Given the description of an element on the screen output the (x, y) to click on. 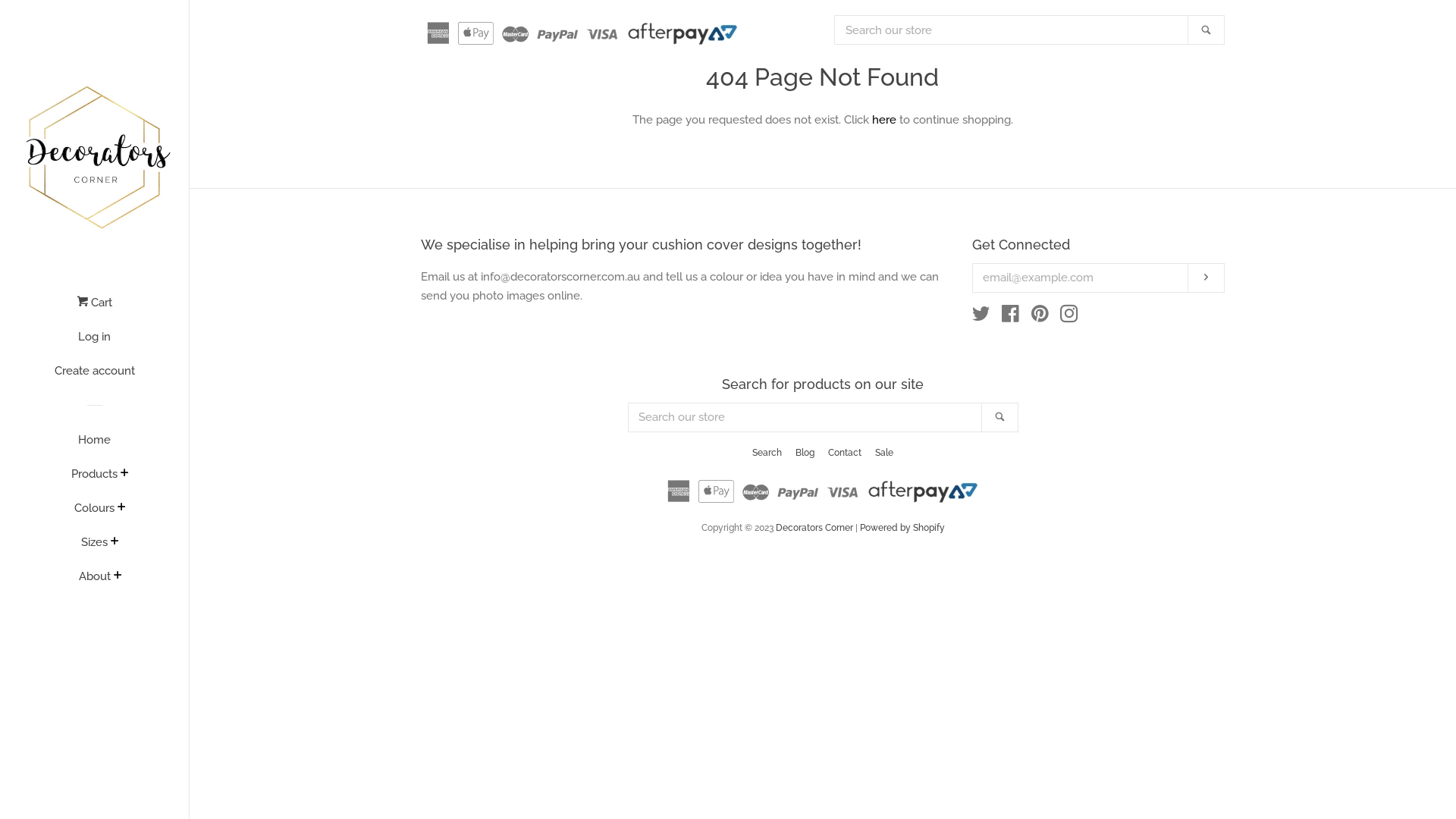
expand Element type: text (114, 542)
Search Element type: text (766, 452)
Log in Element type: text (93, 342)
Pinterest Element type: text (1039, 316)
expand Element type: text (121, 507)
here Element type: text (884, 119)
Sizes Element type: text (94, 547)
Colours Element type: text (94, 513)
Twitter Element type: text (981, 316)
expand Element type: text (117, 576)
Decorators Corner Element type: text (813, 527)
Search Element type: text (998, 417)
Instagram Element type: text (1069, 316)
Blog Element type: text (804, 452)
expand Element type: text (124, 473)
Sale Element type: text (884, 452)
About Element type: text (94, 581)
Contact Element type: text (844, 452)
Subscribe Element type: text (1205, 277)
Cart Element type: text (94, 308)
Home Element type: text (93, 445)
Powered by Shopify Element type: text (901, 527)
Products Element type: text (94, 479)
Facebook Element type: text (1010, 316)
Search Element type: text (1205, 29)
Create account Element type: text (93, 376)
